Given the description of an element on the screen output the (x, y) to click on. 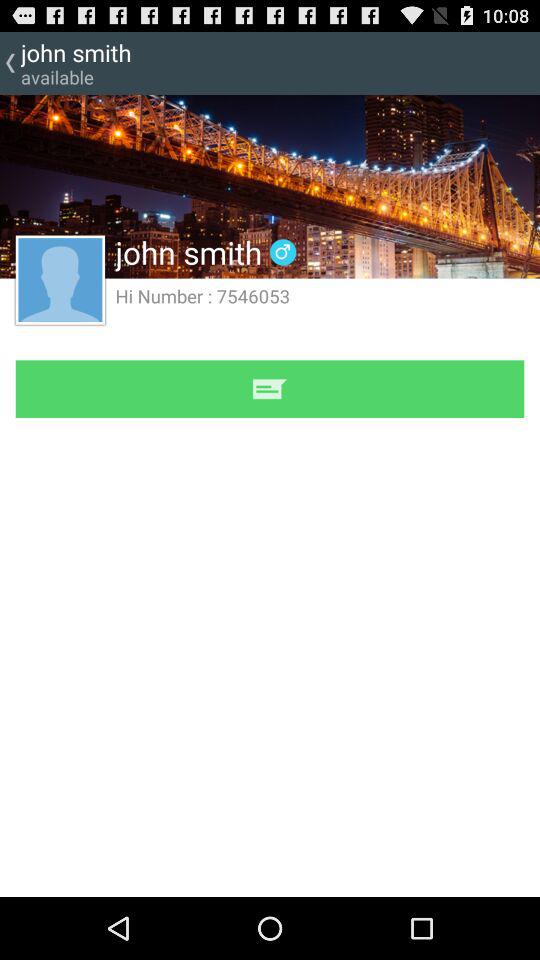
tap item to the left of the hi number : 7546053 app (60, 279)
